Given the description of an element on the screen output the (x, y) to click on. 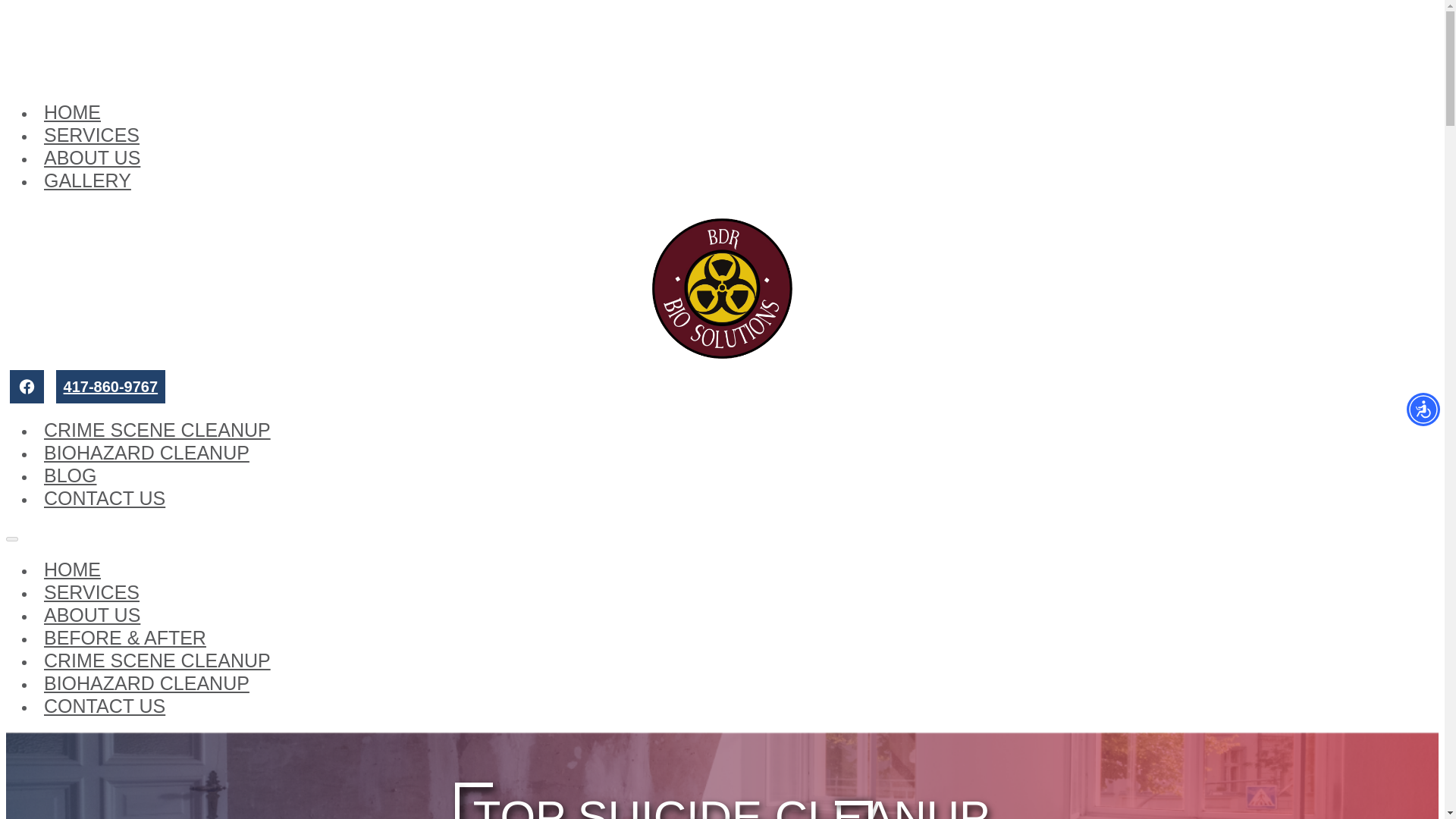
BIOHAZARD CLEANUP (146, 453)
BIOHAZARD CLEANUP (146, 683)
CRIME SCENE CLEANUP (157, 661)
BLOG (69, 476)
CONTACT US (104, 706)
HOME (71, 569)
Biohazard Cleanup (146, 453)
CRIME SCENE CLEANUP (157, 430)
Gallery (87, 180)
Services (91, 135)
About Us (92, 615)
CONTACT US (104, 498)
GALLERY (87, 180)
Home (71, 112)
Crime Scene Cleanup (157, 430)
